Given the description of an element on the screen output the (x, y) to click on. 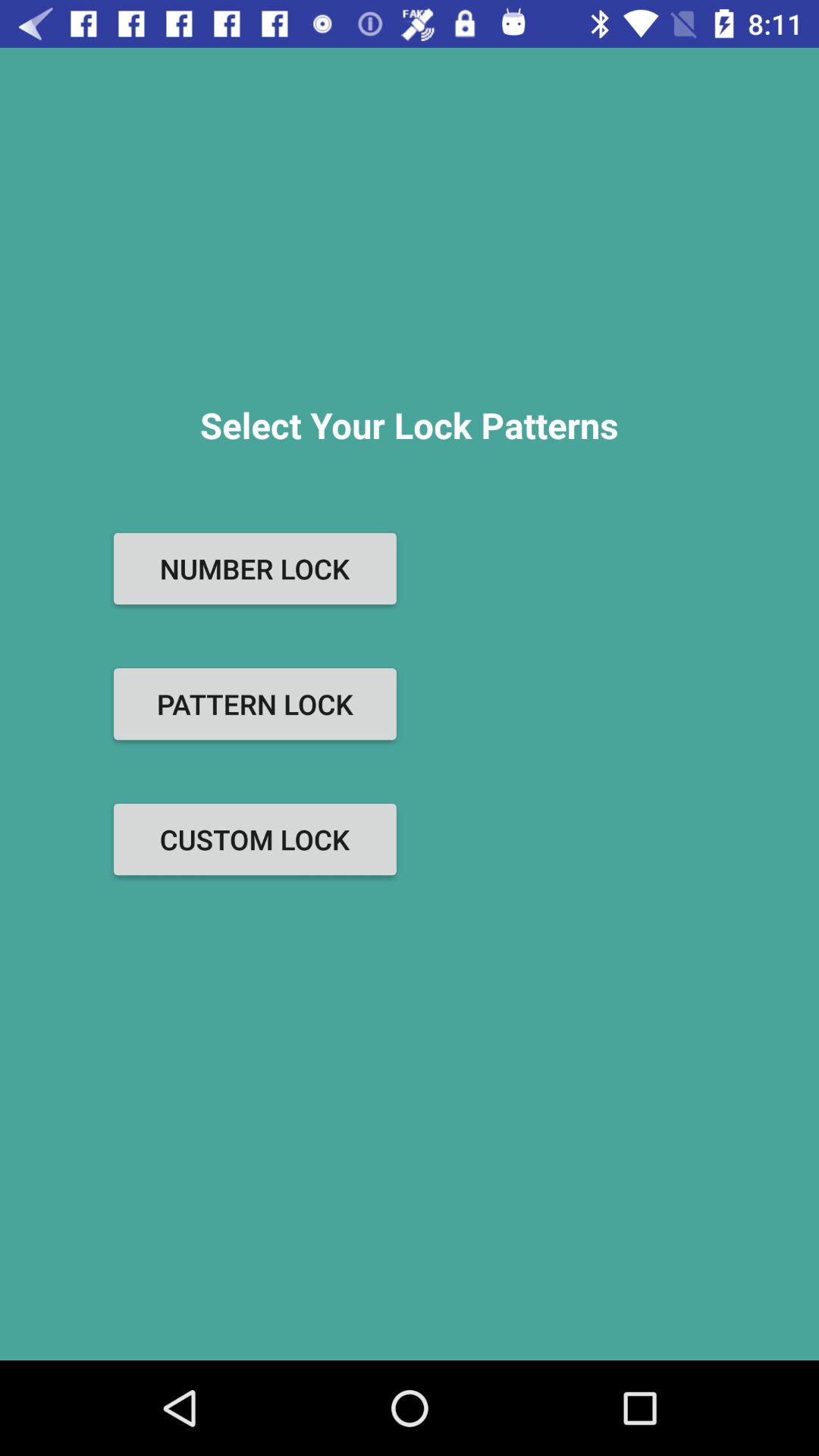
choose custom lock icon (254, 839)
